Given the description of an element on the screen output the (x, y) to click on. 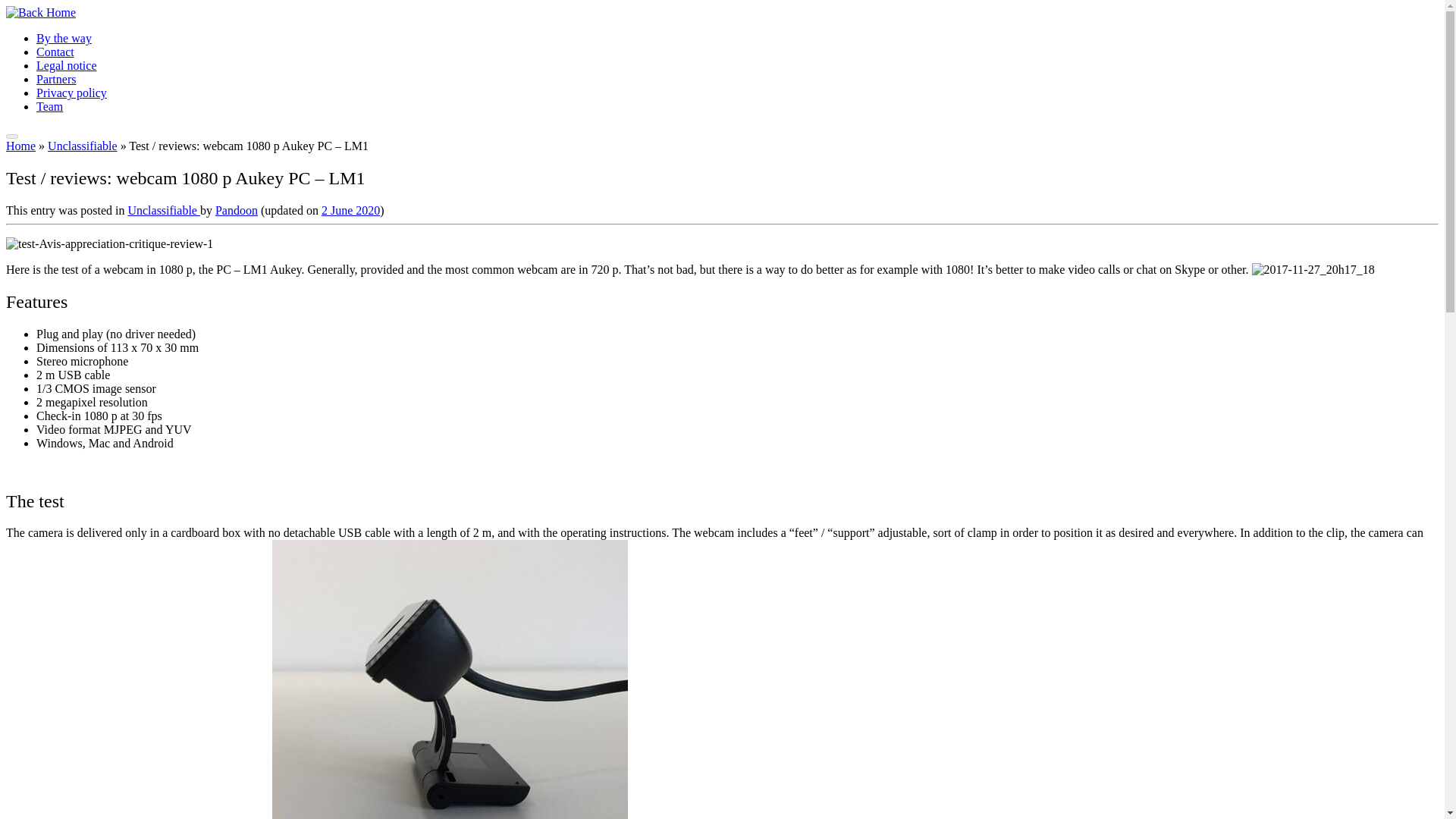
Partners (55, 78)
View all posts by Pandoon (236, 210)
By the way (63, 38)
Privacy policy (71, 92)
Unclassifiable (82, 145)
Unclassifiable (82, 145)
La caverne de Pandoon (19, 145)
Legal notice (66, 65)
20 h 36 min (350, 210)
2 June 2020 (350, 210)
View all posts in Unclassifiable (164, 210)
Open the menu (11, 136)
Pandoon (236, 210)
Team (49, 106)
